Given the description of an element on the screen output the (x, y) to click on. 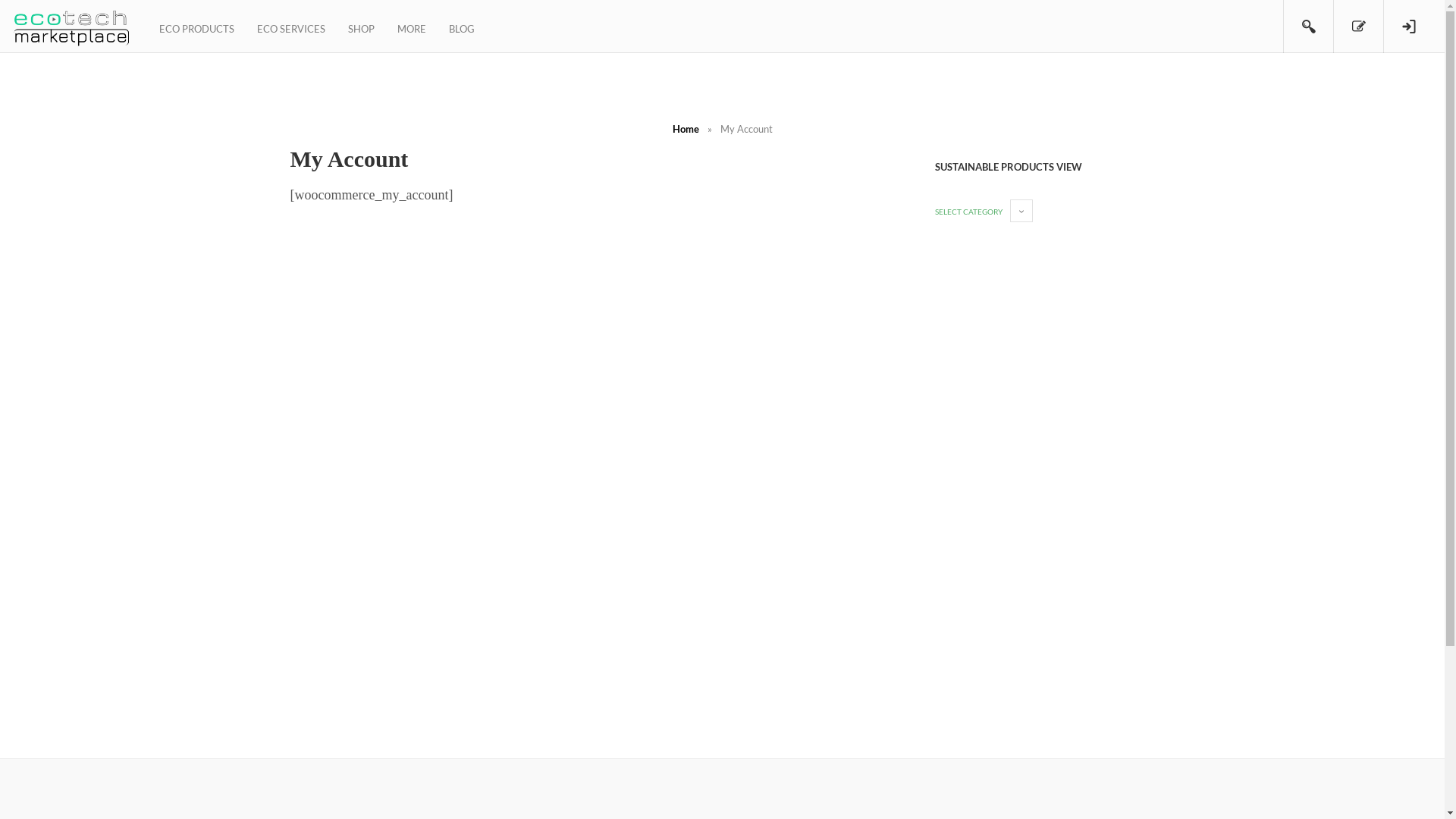
ECO SERVICES Element type: text (291, 26)
SHOP Element type: text (361, 26)
BLOG Element type: text (461, 26)
MORE Element type: text (411, 26)
Home Element type: text (684, 128)
ECO PRODUCTS Element type: text (196, 26)
